Given the description of an element on the screen output the (x, y) to click on. 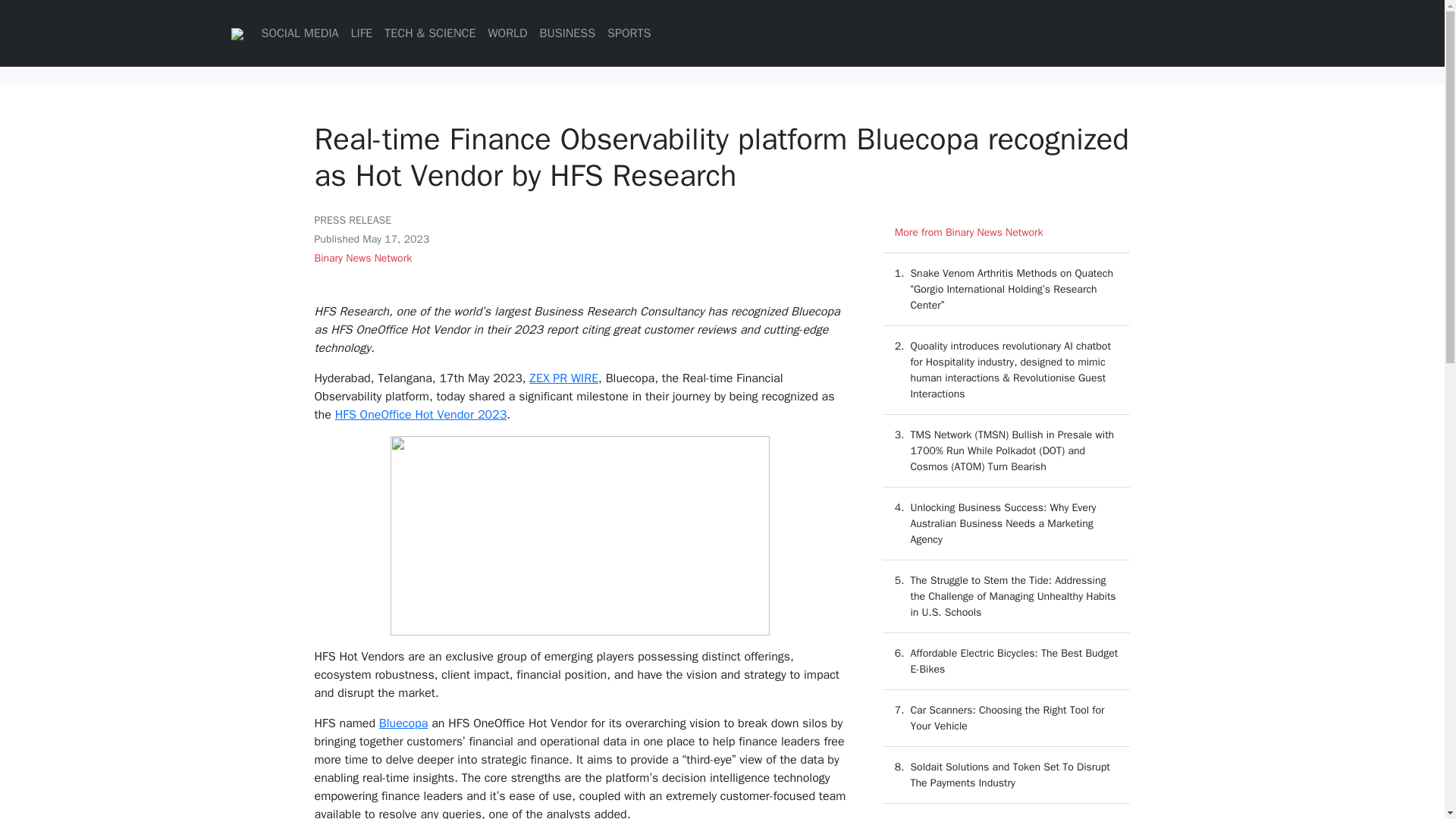
HFS OneOffice Hot Vendor 2023 (420, 414)
BUSINESS (568, 33)
Bluecopa (403, 723)
LIFE (360, 33)
SOCIAL MEDIA (298, 33)
SPORTS (628, 33)
Car Scanners: Choosing the Right Tool for Your Vehicle (1006, 717)
WORLD (506, 33)
Affordable Electric Bicycles: The Best Budget E-Bikes (1014, 661)
Binary News Network (363, 257)
ZEX PR WIRE (563, 378)
